Given the description of an element on the screen output the (x, y) to click on. 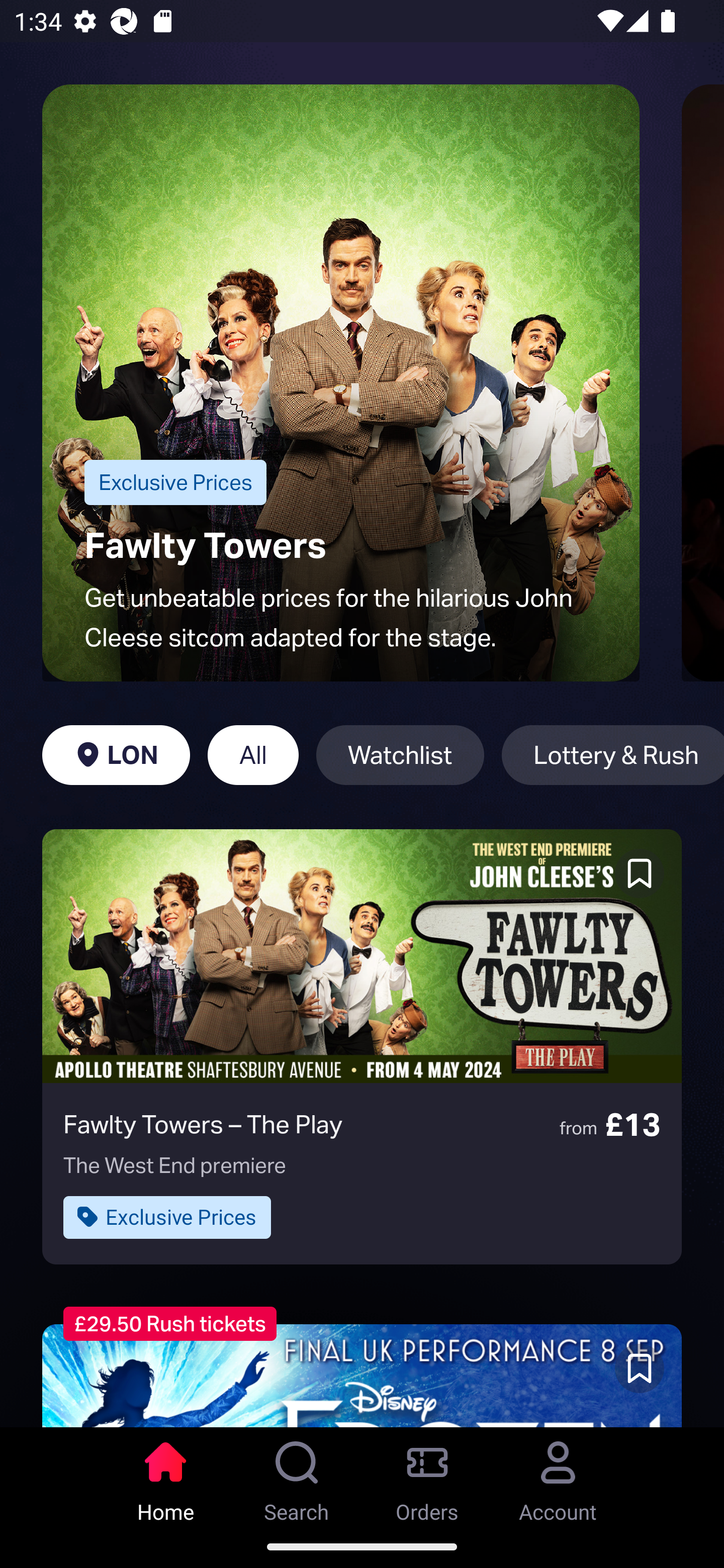
LON (115, 754)
All (252, 754)
Watchlist (400, 754)
Lottery & Rush (612, 754)
Search (296, 1475)
Orders (427, 1475)
Account (558, 1475)
